Given the description of an element on the screen output the (x, y) to click on. 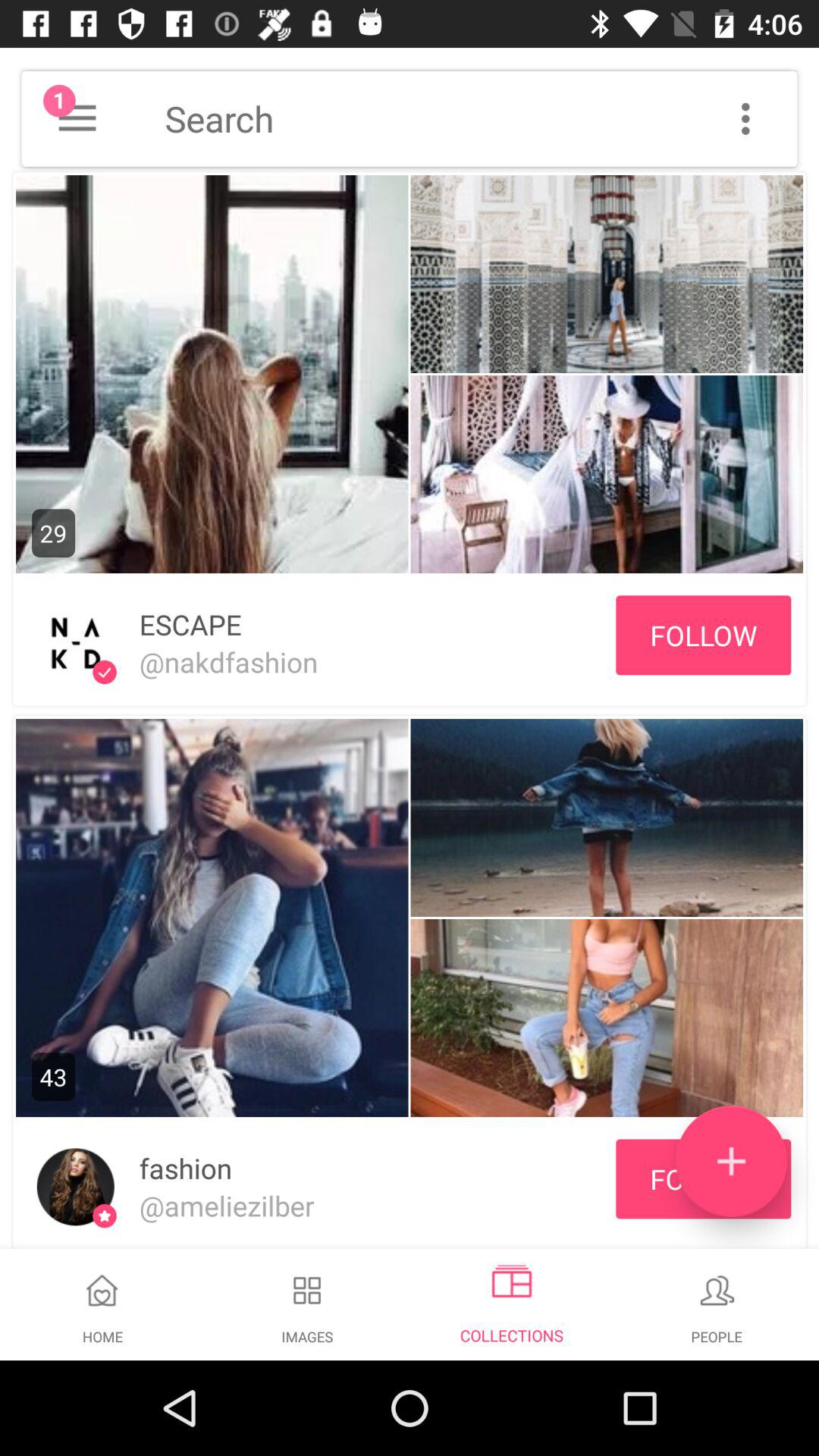
open search bar menu options (745, 118)
